Given the description of an element on the screen output the (x, y) to click on. 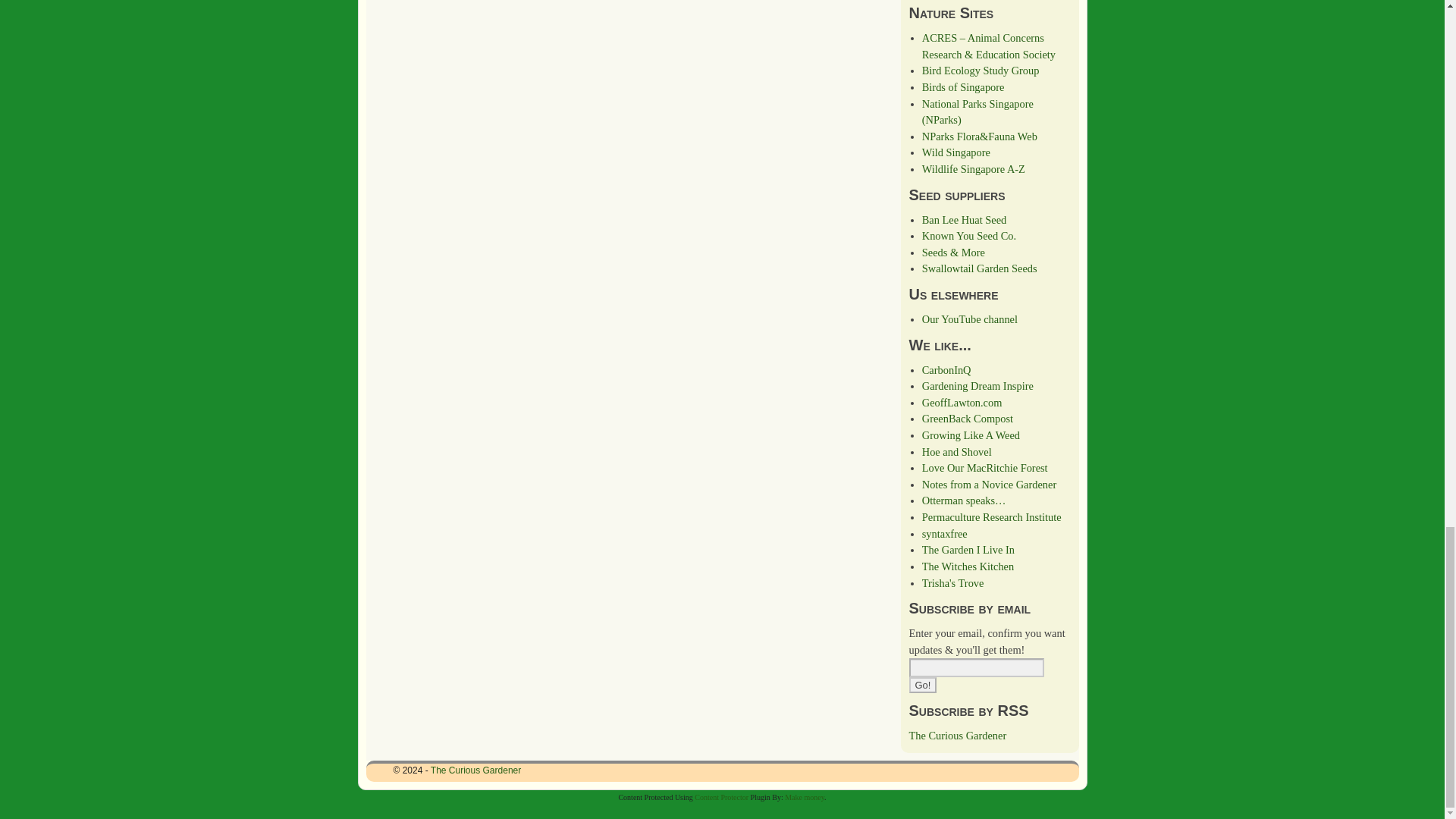
Go! (922, 684)
